Given the description of an element on the screen output the (x, y) to click on. 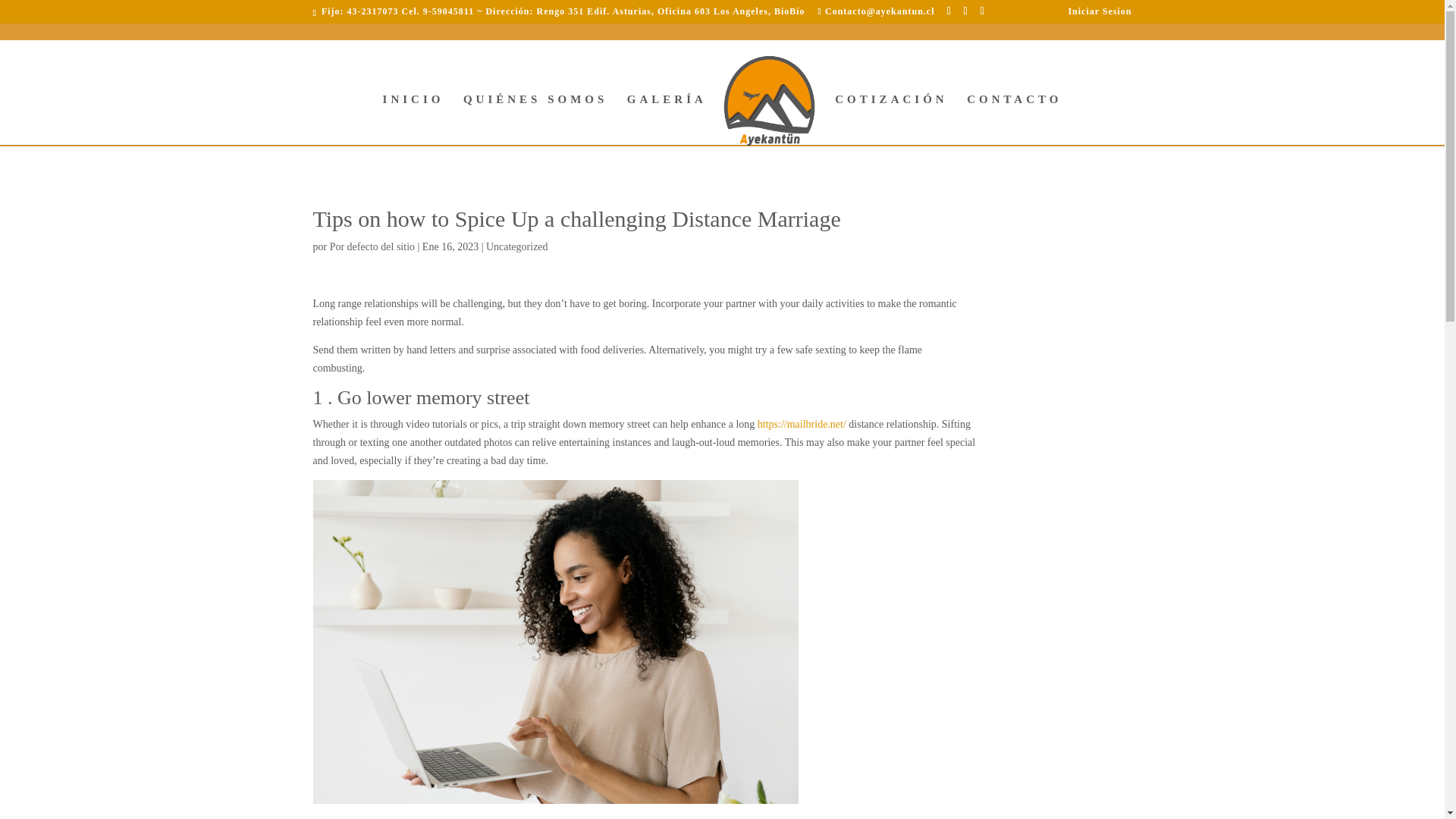
Mensajes de Por defecto del sitio (372, 246)
Uncategorized (517, 246)
Iniciar Sesion (1099, 14)
Por defecto del sitio (372, 246)
CONTACTO (1013, 119)
INICIO (413, 119)
